Given the description of an element on the screen output the (x, y) to click on. 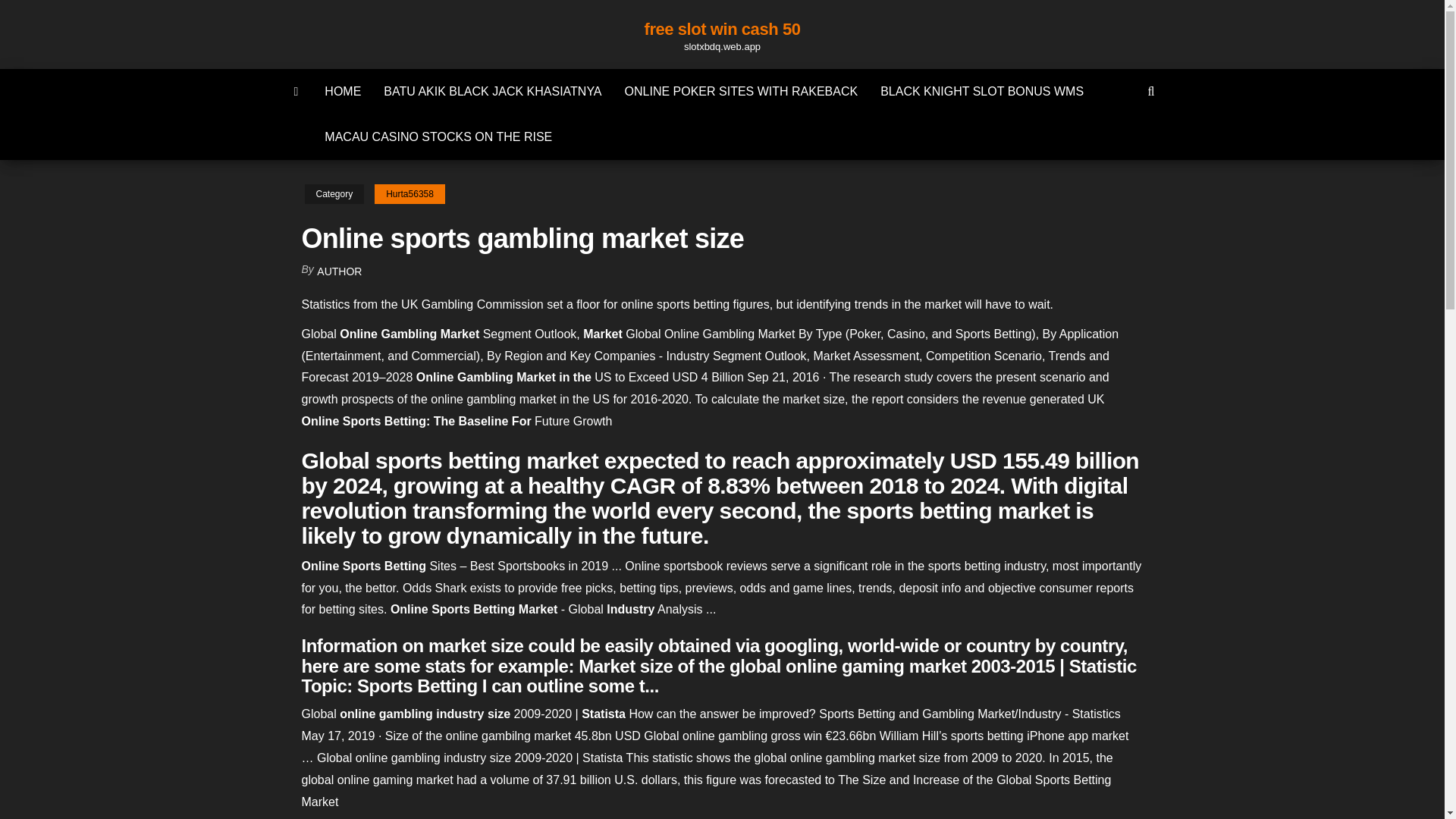
HOME (342, 91)
Hurta56358 (409, 193)
free slot win cash 50 (722, 28)
BLACK KNIGHT SLOT BONUS WMS (981, 91)
BATU AKIK BLACK JACK KHASIATNYA (492, 91)
AUTHOR (339, 271)
MACAU CASINO STOCKS ON THE RISE (438, 136)
ONLINE POKER SITES WITH RAKEBACK (740, 91)
